Given the description of an element on the screen output the (x, y) to click on. 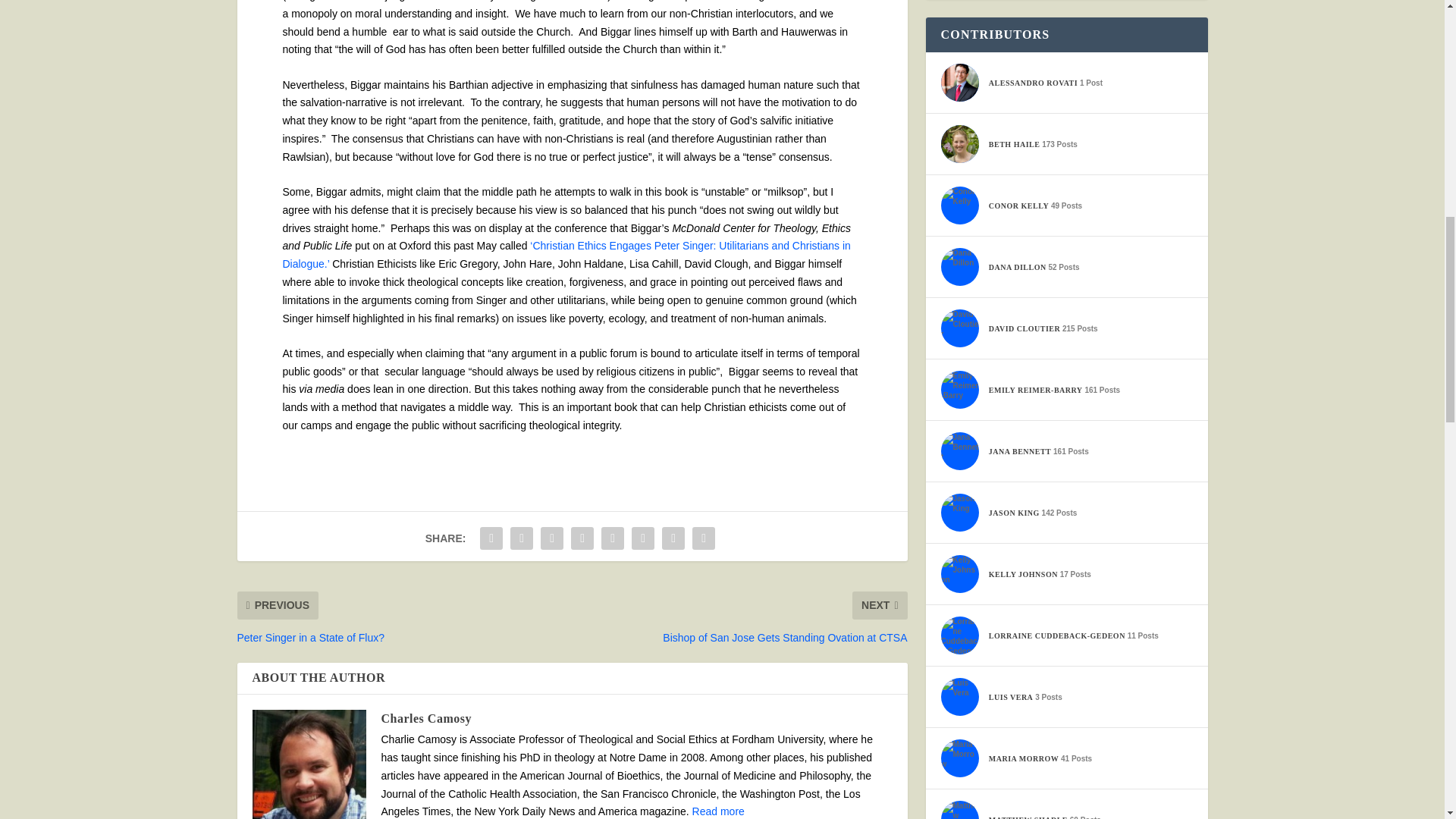
Charles Camosy (425, 717)
